Given the description of an element on the screen output the (x, y) to click on. 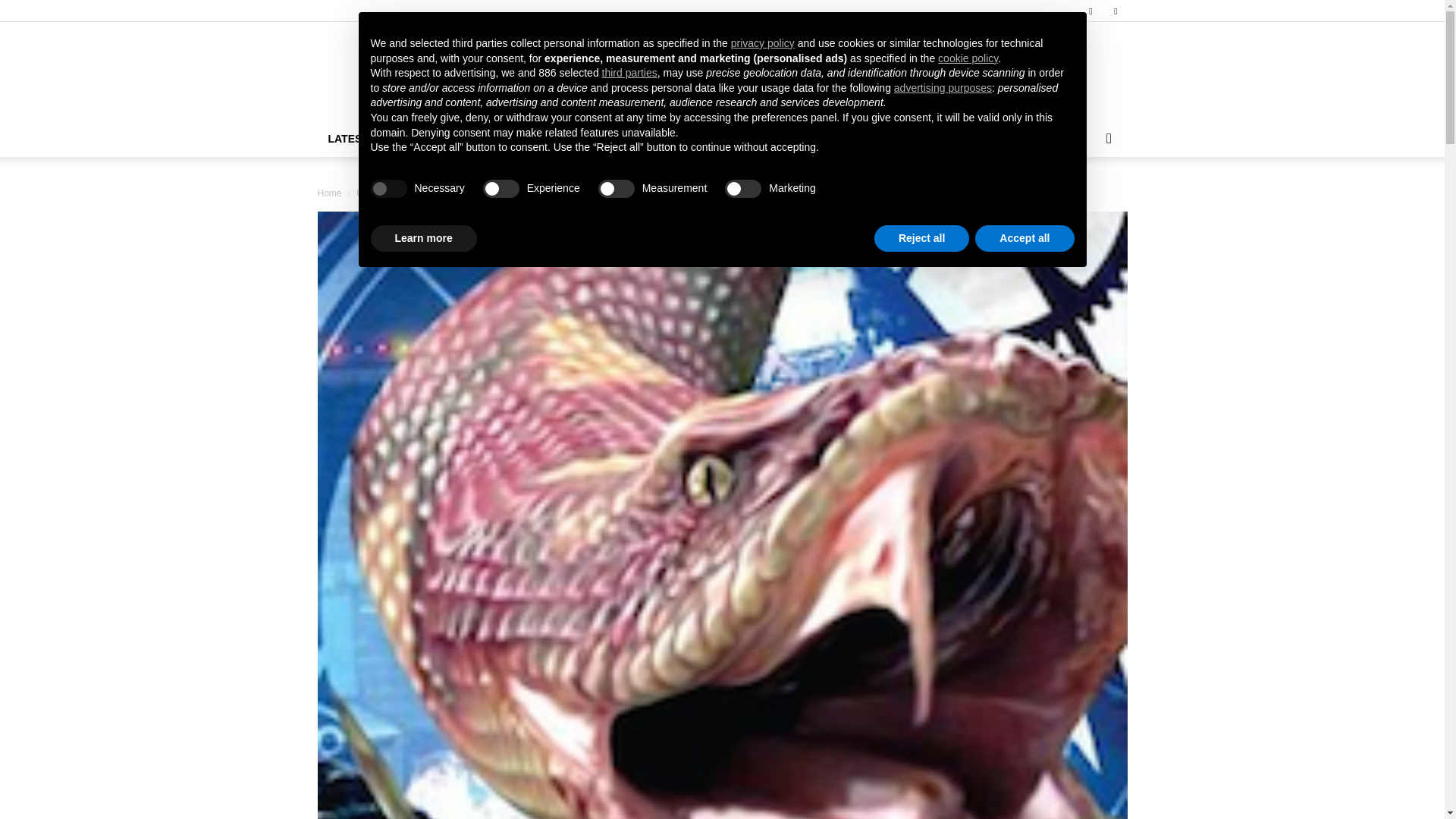
false (743, 188)
Uncategorized (385, 193)
false (501, 188)
Twitter (1114, 10)
true (387, 188)
TITAN COMICS (914, 138)
View all posts in Uncategorized (385, 193)
Home (328, 193)
Search (1085, 199)
Blogtor Who The Definite Articles, You Might Say! (722, 72)
false (616, 188)
Facebook (1090, 10)
BIG FINISH (827, 138)
IN OTHER WORLDS (1023, 138)
LATEST NEWS (365, 138)
